Given the description of an element on the screen output the (x, y) to click on. 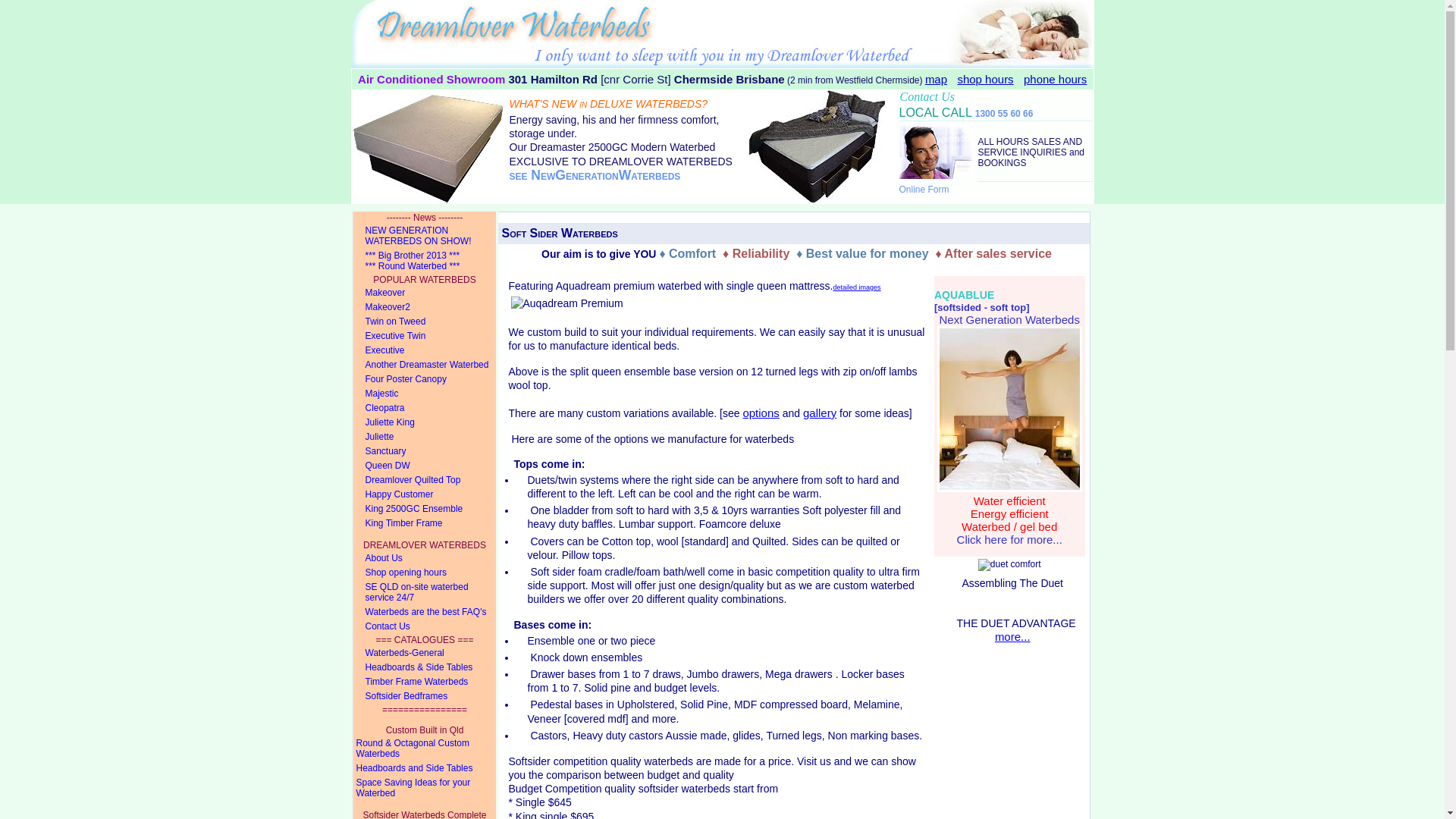
Round & Octagonal Custom Waterbeds Element type: text (424, 748)
phone hours Element type: text (1054, 80)
Makeover Element type: text (424, 292)
Softsider Bedframes Element type: text (424, 696)
detailed images Element type: text (856, 285)
Juliette King Element type: text (424, 422)
see NewGenerationWaterbeds Element type: text (594, 174)
*** Big Brother 2013 ***
*** Round Waterbed *** Element type: text (424, 260)
Queen DW Element type: text (424, 465)
About Us Element type: text (424, 558)
Cleopatra Element type: text (424, 408)
Twin on Tweed Element type: text (424, 321)
Another Dreamaster Waterbed Element type: text (424, 364)
Headboards & Side Tables Element type: text (424, 667)
gallery Element type: text (819, 412)
Four Poster Canopy Element type: text (424, 379)
Majestic Element type: text (424, 393)
King Timber Frame Element type: text (424, 523)
NEW GENERATION WATERBEDS ON SHOW! Element type: text (424, 235)
Timber Frame Waterbeds Element type: text (424, 681)
1300 55 60 66 Element type: text (1004, 113)
King 2500GC Ensemble Element type: text (424, 509)
Juliette Element type: text (424, 436)
Executive Element type: text (424, 350)
Makeover2 Element type: text (424, 307)
Space Saving Ideas for your Waterbed Element type: text (424, 787)
Waterbeds-General Element type: text (424, 653)
options Element type: text (760, 412)
SE QLD on-site waterbed service 24/7 Element type: text (424, 592)
Executive Twin Element type: text (424, 336)
Waterbeds are the best FAQ's Element type: text (424, 612)
Dreamlover Quilted Top Element type: text (424, 480)
Headboards and Side Tables Element type: text (424, 768)
Online Form Element type: text (924, 189)
shop hours Element type: text (985, 80)
Contact Us Element type: text (424, 626)
Shop opening hours Element type: text (424, 572)
Happy Customer Element type: text (424, 494)
Sanctuary Element type: text (424, 451)
more... Element type: text (1012, 636)
map Element type: text (936, 80)
